Given the description of an element on the screen output the (x, y) to click on. 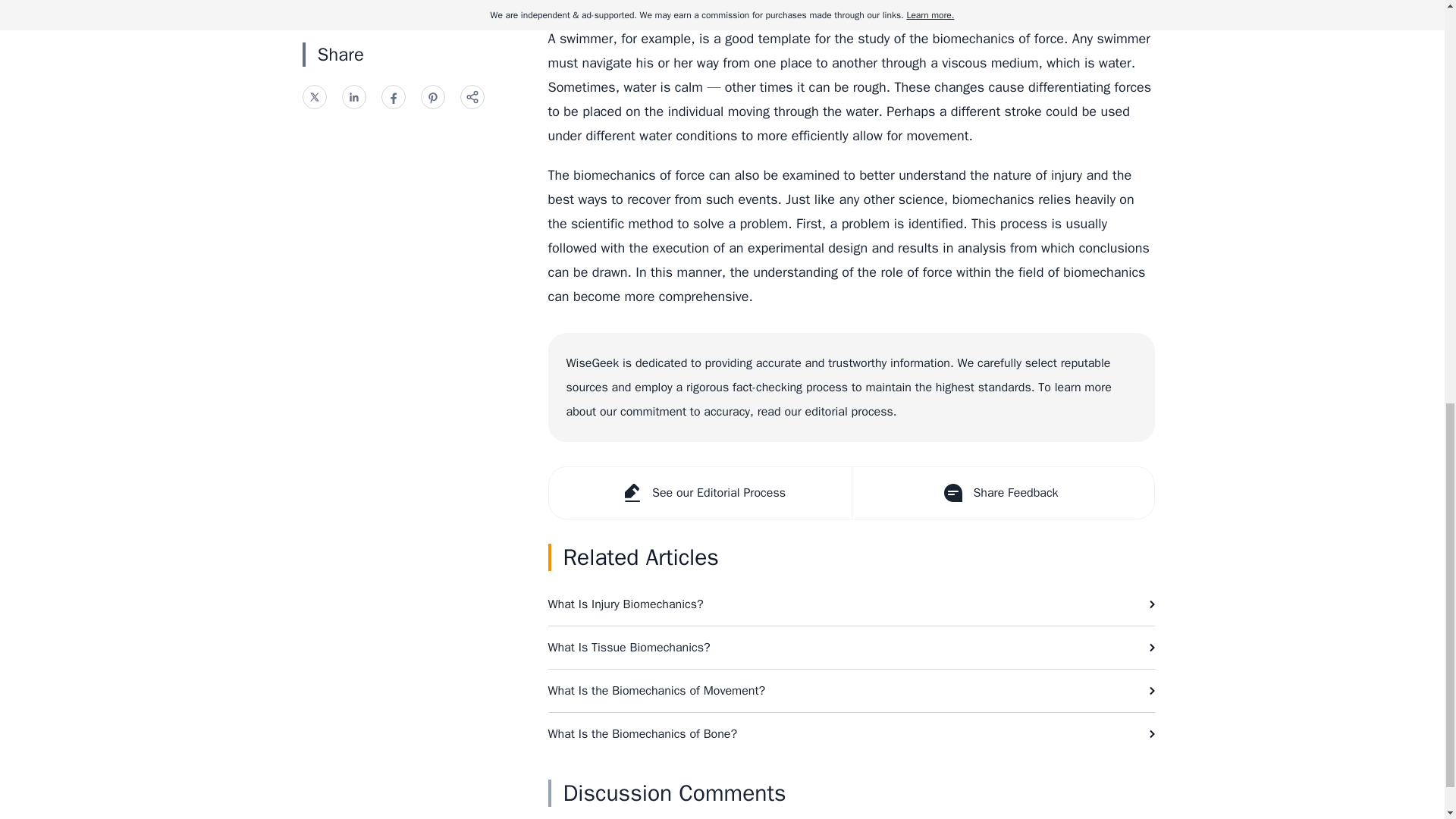
What Is the Biomechanics of Movement? (850, 690)
See our Editorial Process (699, 492)
What Is the Biomechanics of Bone? (850, 733)
What Is Tissue Biomechanics? (850, 647)
Share Feedback (1001, 492)
What Is Injury Biomechanics? (850, 604)
